Given the description of an element on the screen output the (x, y) to click on. 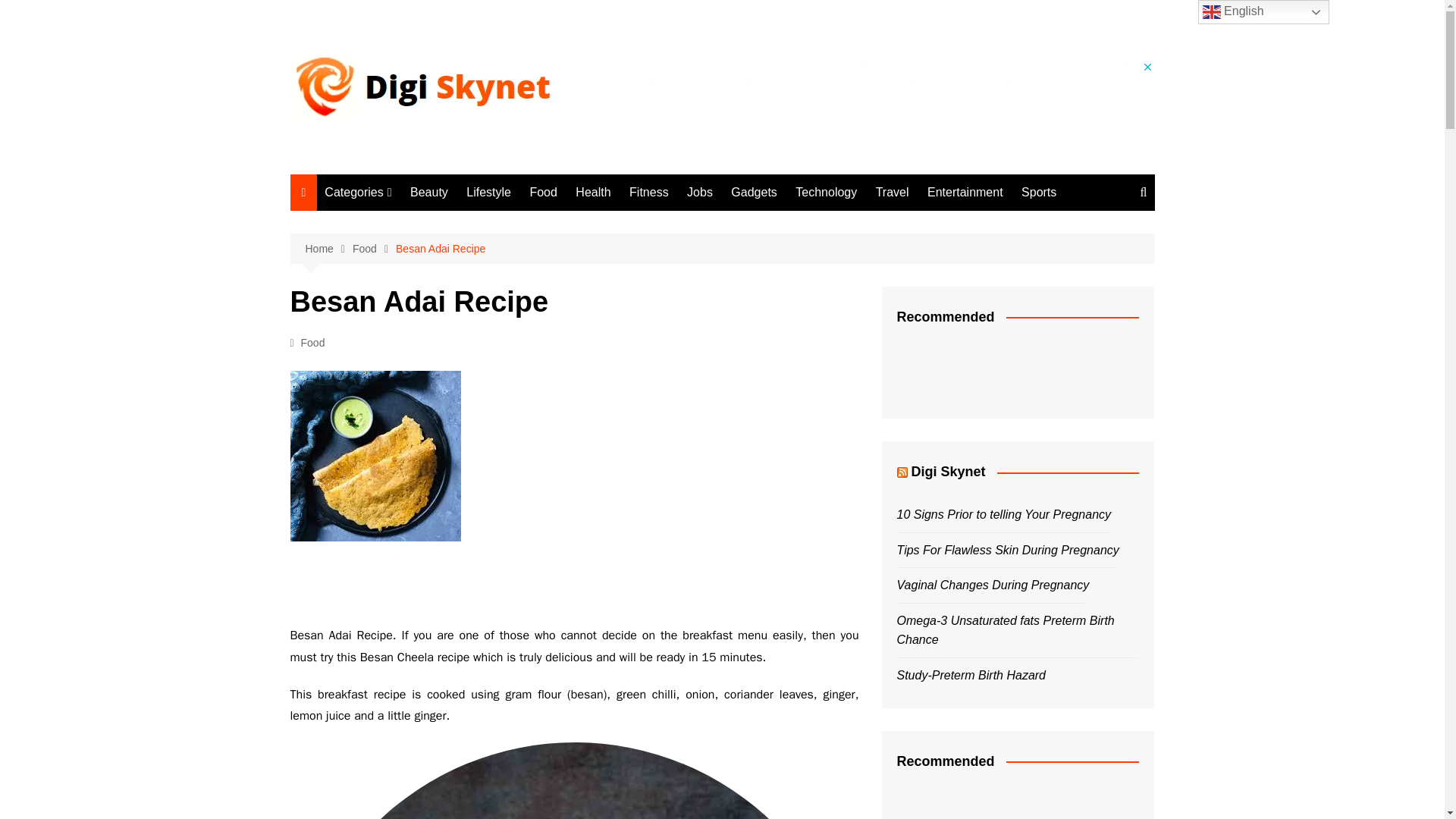
Jobs (699, 192)
Technology (825, 192)
Lifestyle (488, 192)
Entertainment (965, 192)
Food (542, 192)
Fitness (400, 323)
Travel (400, 448)
Make Money Online (400, 548)
Besan Adai Recipe (574, 780)
3rd party ad content (878, 94)
Home (328, 248)
Gadgets (753, 192)
Food (312, 342)
Sports (1038, 192)
Besan Adai Recipe (374, 456)
